Given the description of an element on the screen output the (x, y) to click on. 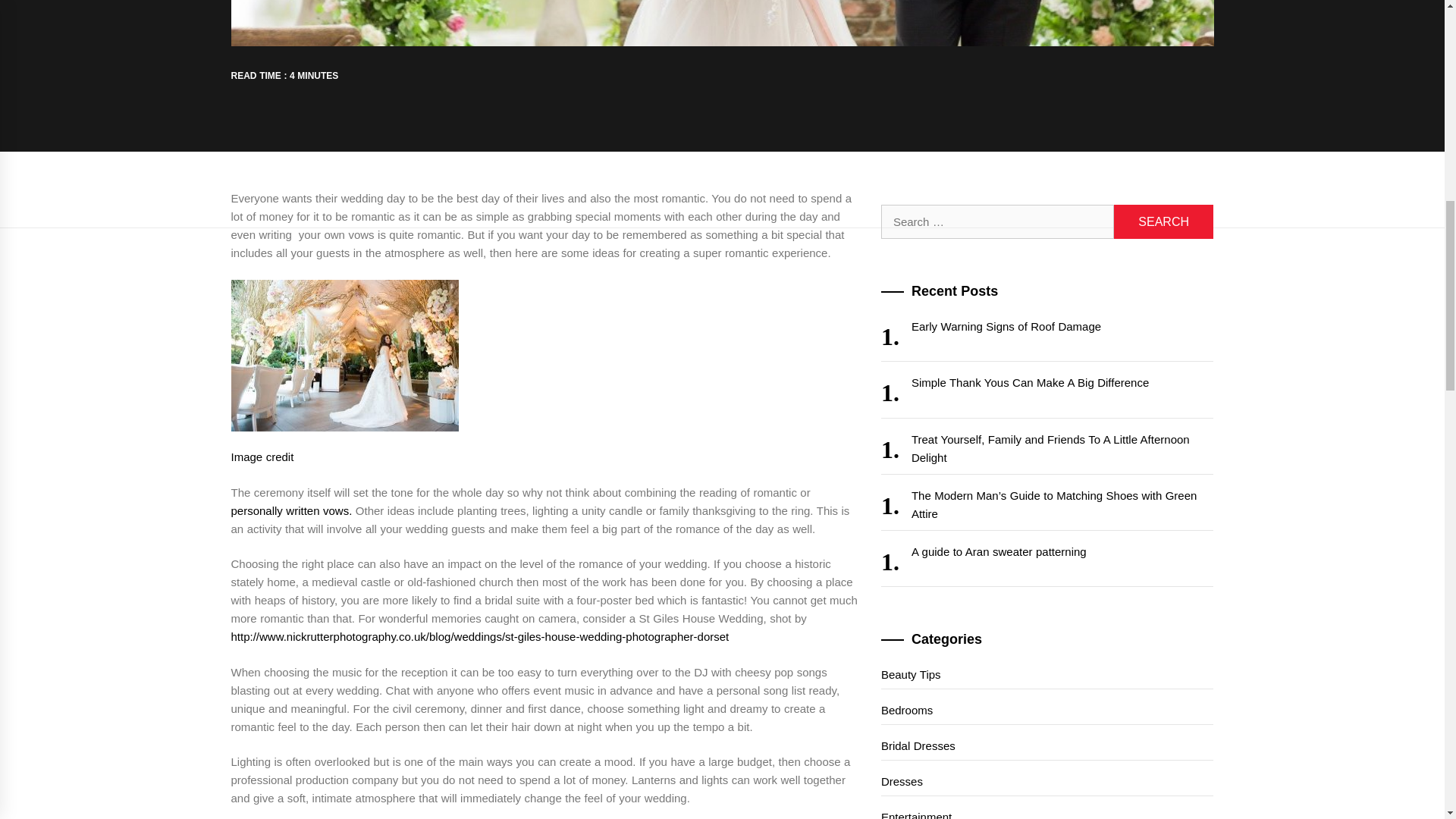
personally written vows. (291, 510)
Image credit (262, 456)
Search (1163, 221)
Search (1163, 221)
